Given the description of an element on the screen output the (x, y) to click on. 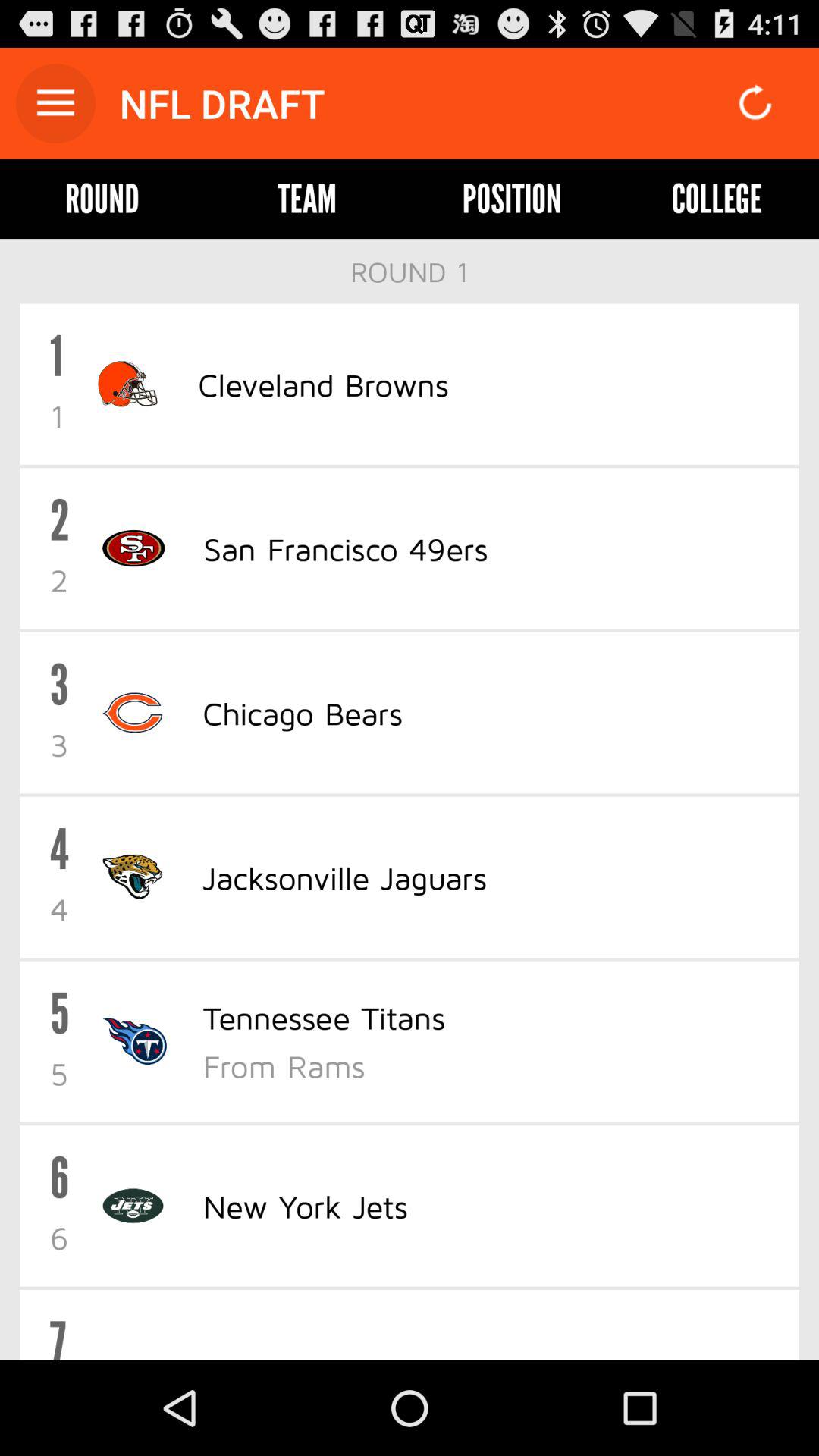
launch the item next to college icon (511, 198)
